Given the description of an element on the screen output the (x, y) to click on. 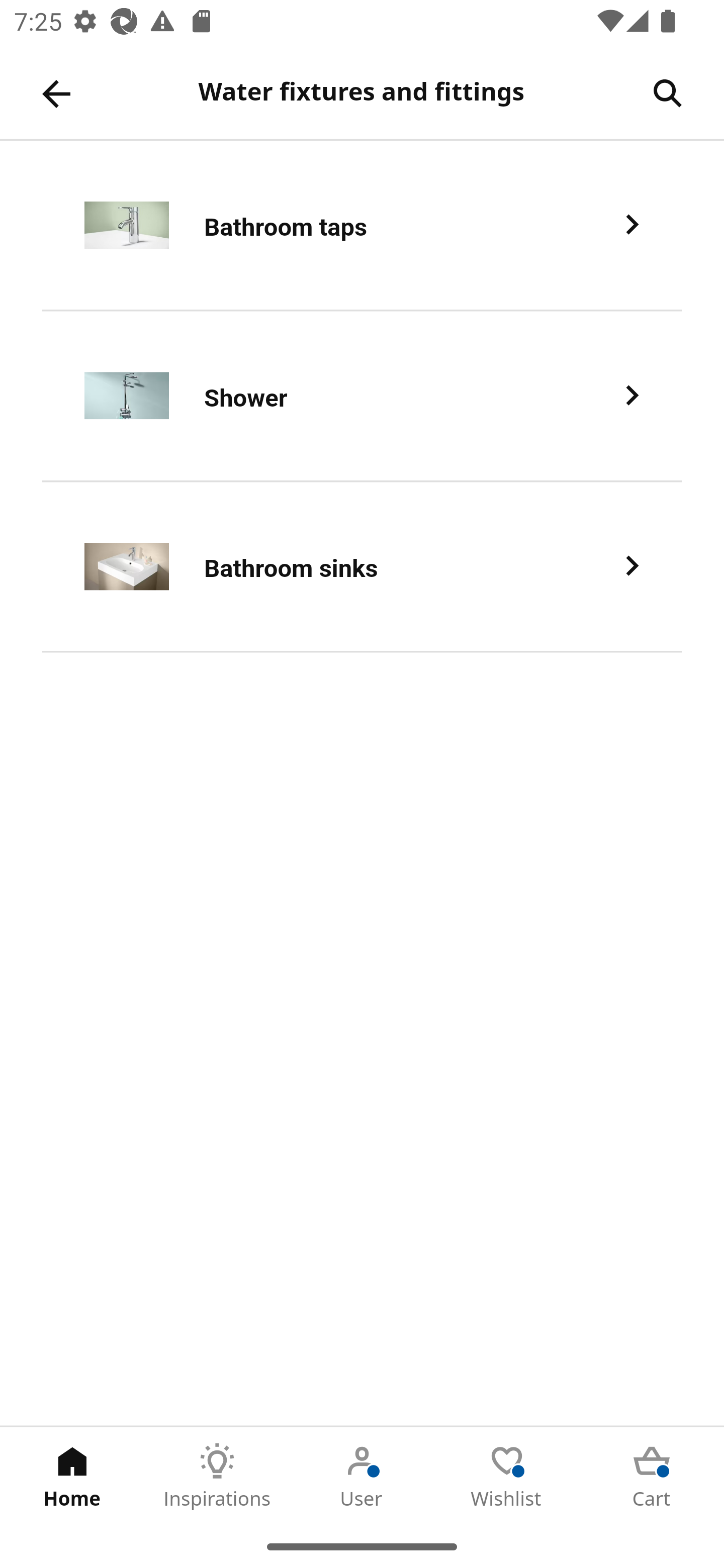
Bathroom taps (361, 226)
Shower (361, 396)
Bathroom sinks (361, 566)
Home
Tab 1 of 5 (72, 1476)
Inspirations
Tab 2 of 5 (216, 1476)
User
Tab 3 of 5 (361, 1476)
Wishlist
Tab 4 of 5 (506, 1476)
Cart
Tab 5 of 5 (651, 1476)
